Given the description of an element on the screen output the (x, y) to click on. 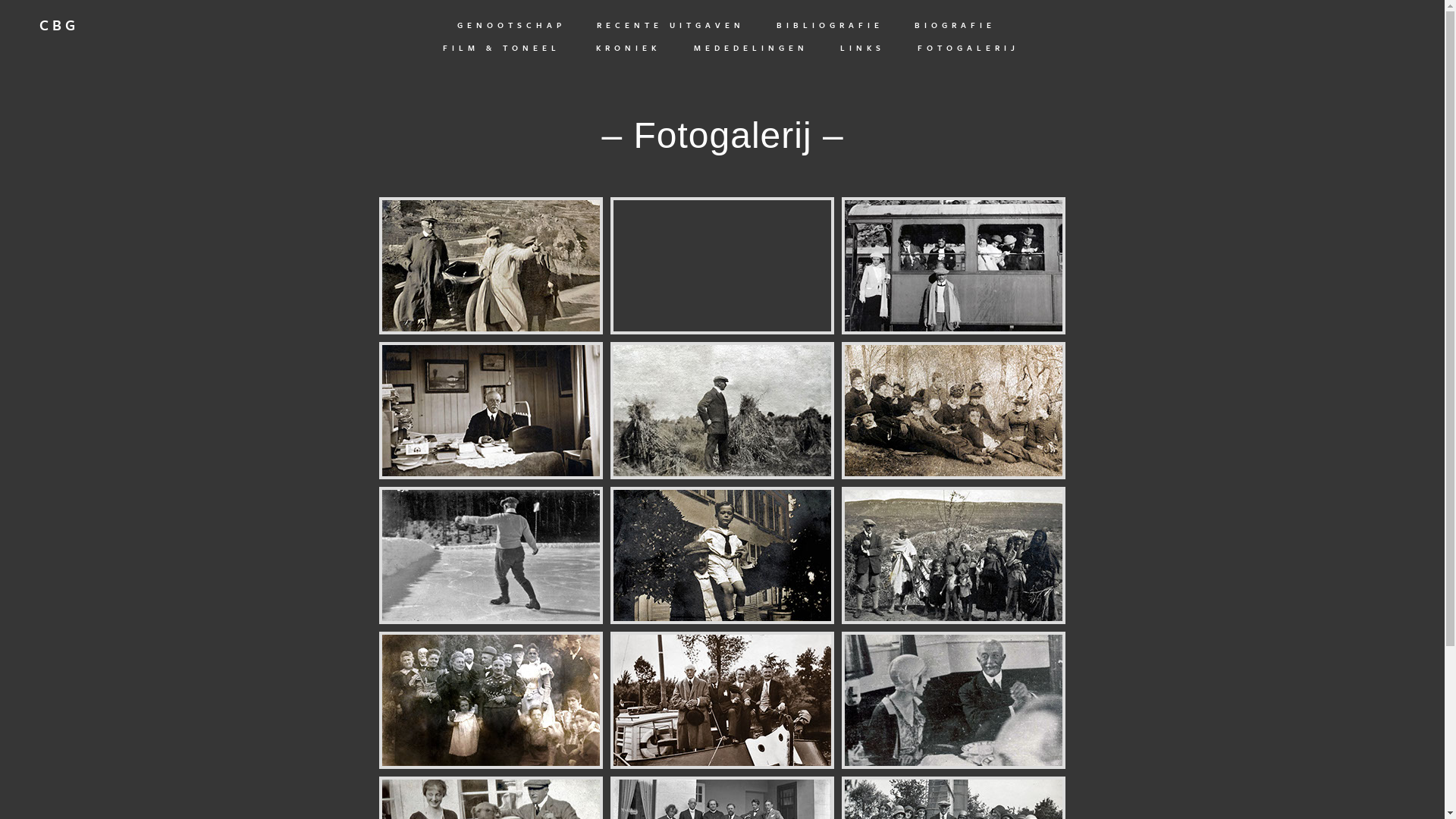
FOTOGALERIJ Element type: text (968, 47)
BIBLIOGRAFIE Element type: text (829, 24)
MEDEDELINGEN Element type: text (750, 47)
BIOGRAFIE Element type: text (954, 24)
LINKS Element type: text (862, 47)
GENOOTSCHAP Element type: text (510, 24)
FILM & TONEEL Element type: text (501, 47)
KRONIEK Element type: text (628, 47)
RECENTE UITGAVEN Element type: text (670, 24)
CBG Element type: text (61, 26)
